Given the description of an element on the screen output the (x, y) to click on. 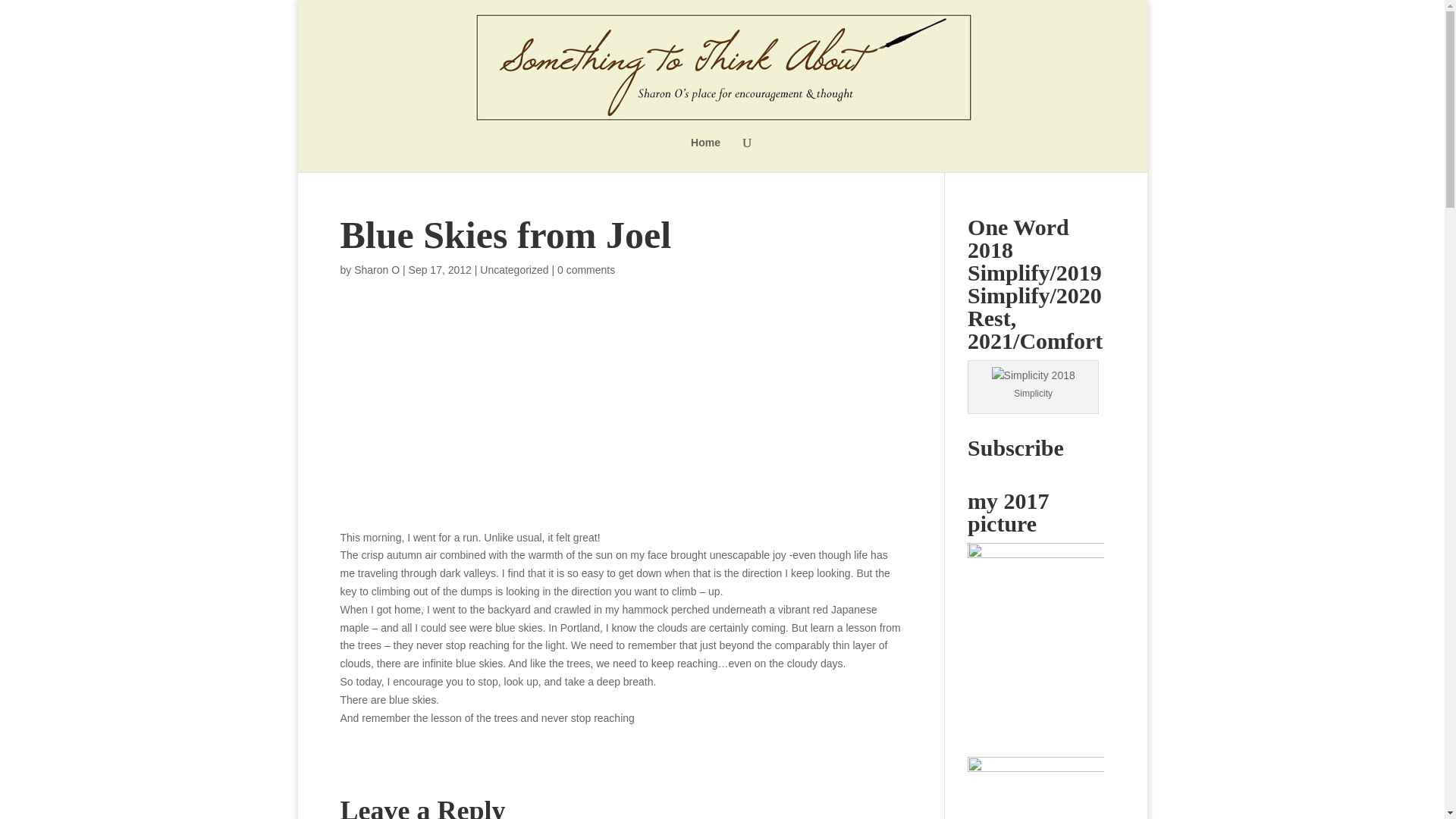
Sharon O (375, 269)
Posts by Sharon O (375, 269)
Uncategorized (514, 269)
0 comments (585, 269)
